Given the description of an element on the screen output the (x, y) to click on. 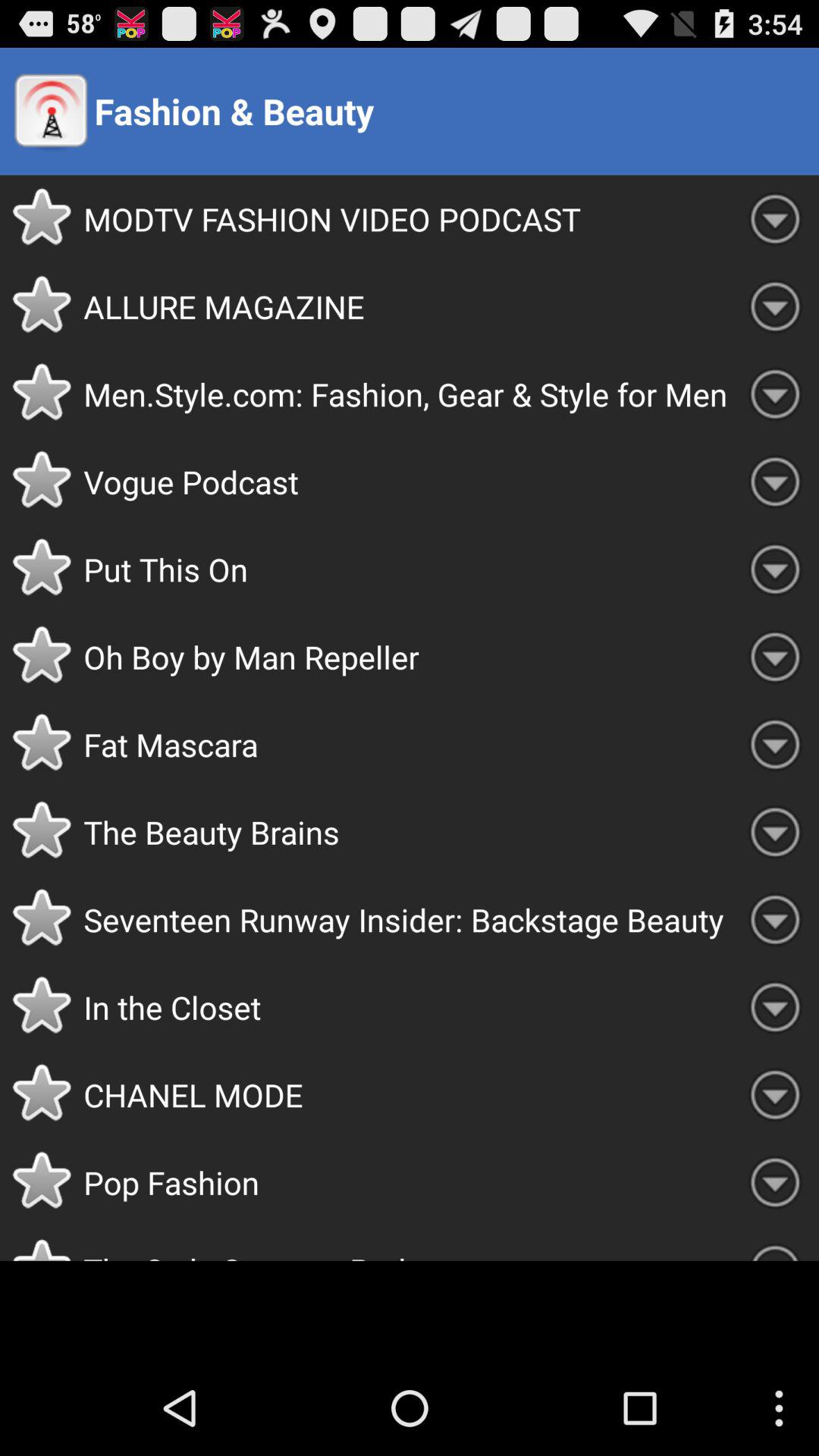
click on the second arrow symbol from top (775, 306)
click on drop down right to the beauty brains (775, 832)
click on the downward play icon next to put this on (775, 568)
